Given the description of an element on the screen output the (x, y) to click on. 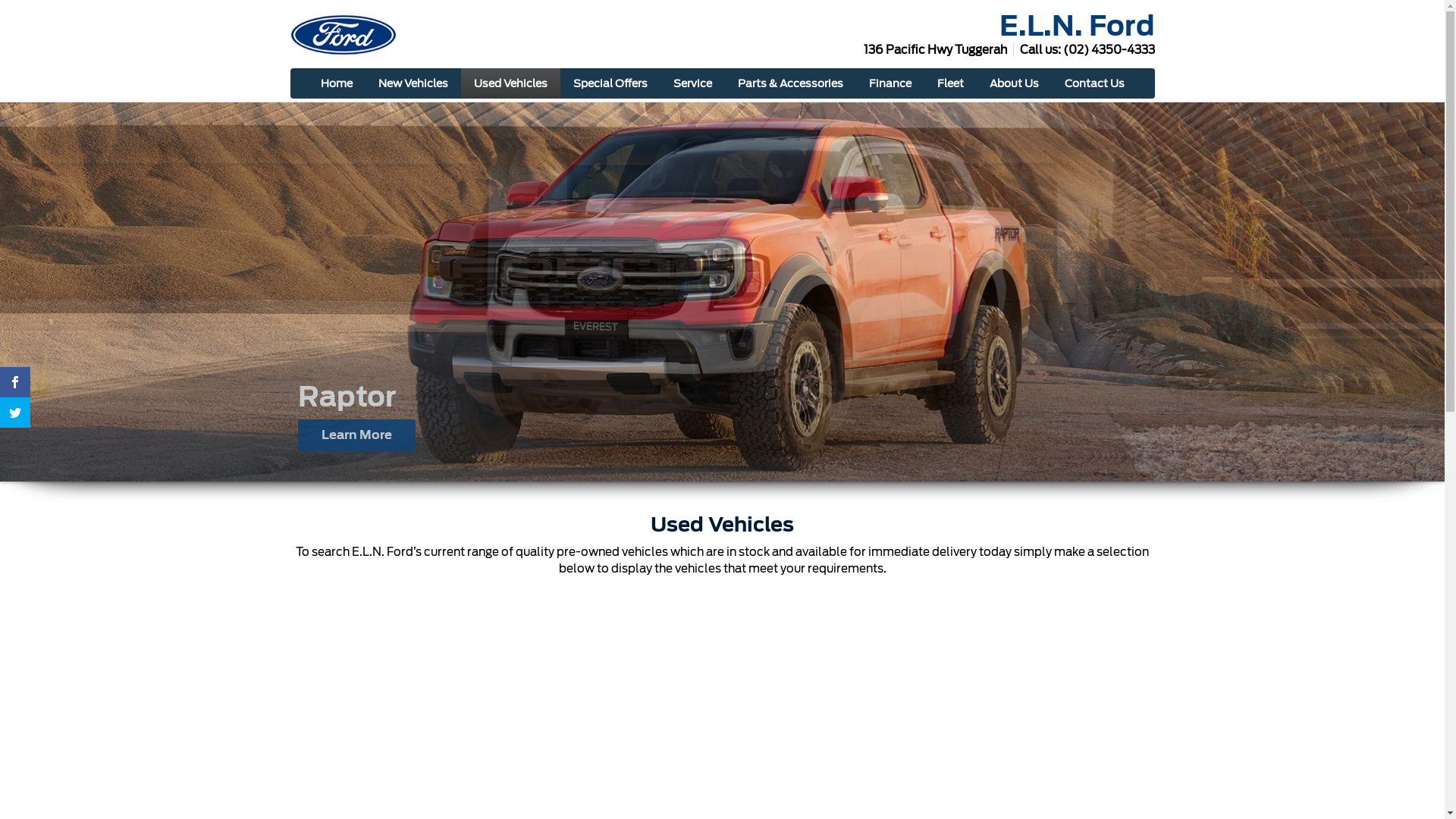
Fleet Element type: text (949, 83)
Used Vehicles Element type: text (510, 83)
(02) 4350-4333 Element type: text (1108, 49)
Learn More Element type: text (356, 435)
Home Element type: text (336, 83)
Special Offers Element type: text (609, 83)
Service Element type: text (691, 83)
Finance Element type: text (889, 83)
About Us Element type: text (1013, 83)
Parts & Accessories Element type: text (790, 83)
Contact Us Element type: text (1093, 83)
New Vehicles Element type: text (413, 83)
